Given the description of an element on the screen output the (x, y) to click on. 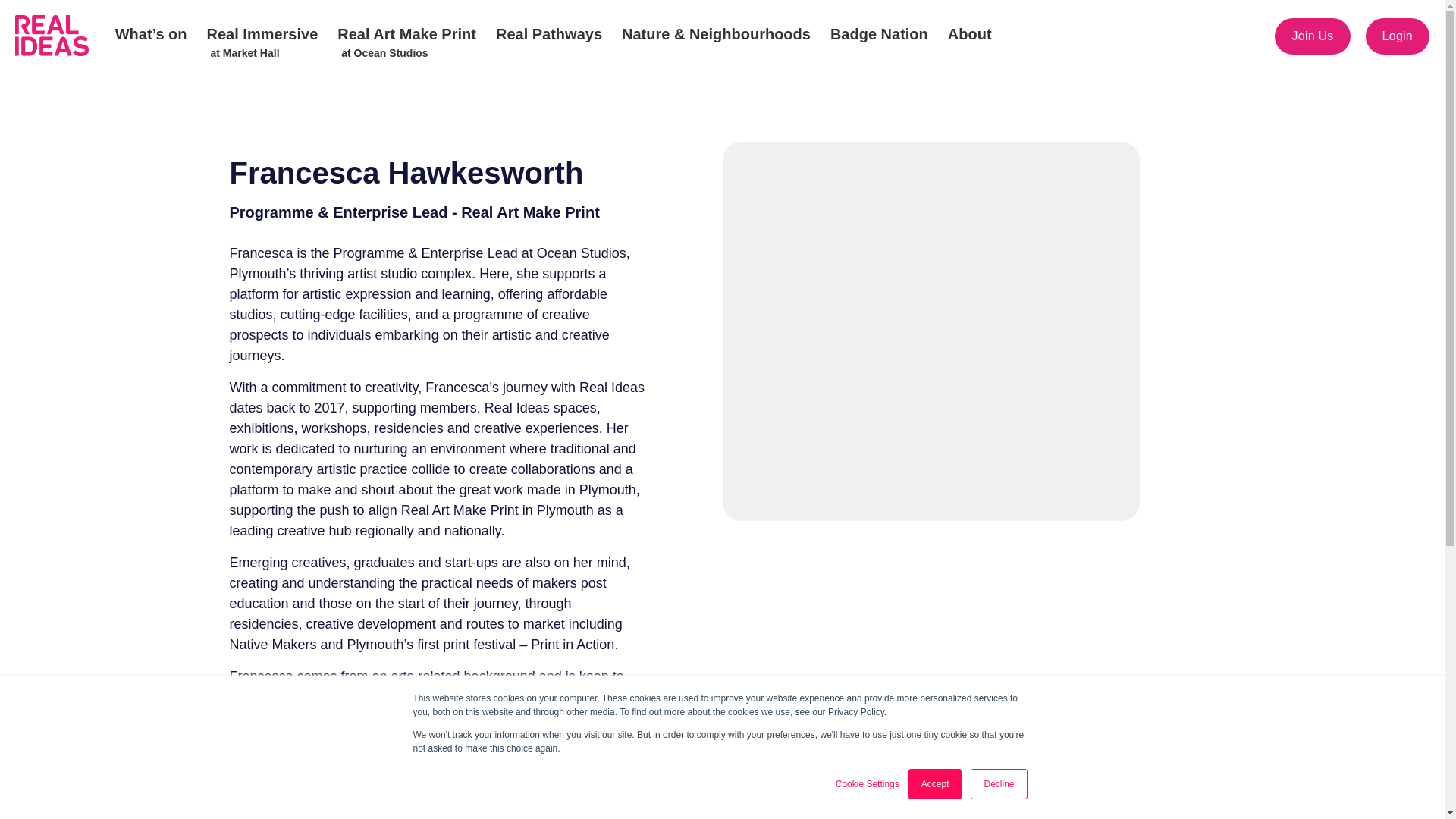
Real Pathways (548, 36)
Join Us (1312, 36)
Badge Nation (406, 36)
Login (879, 36)
Decline (1397, 36)
Cookie Settings (998, 784)
Accept (867, 784)
Meet the team (262, 36)
